Given the description of an element on the screen output the (x, y) to click on. 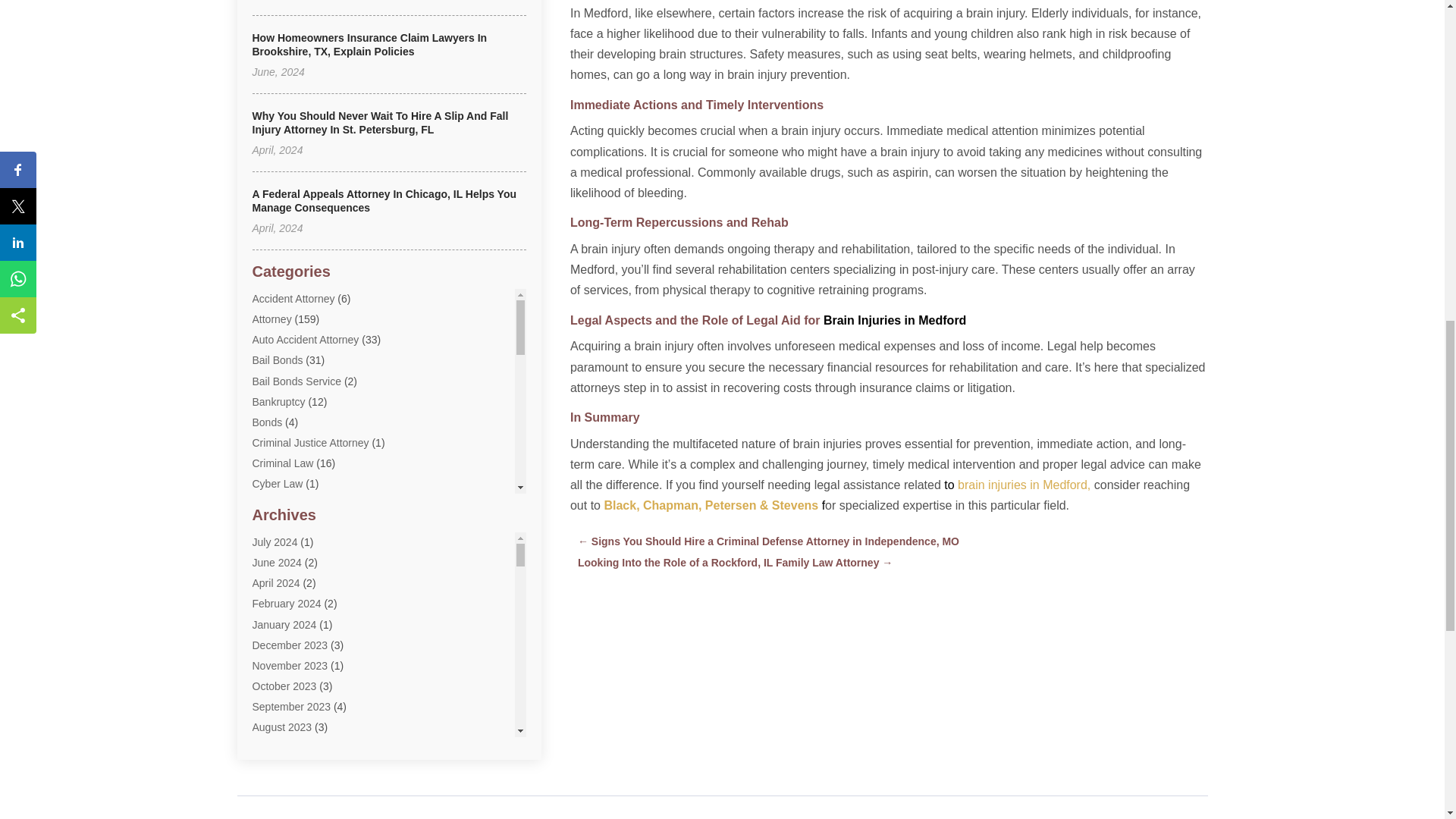
Criminal Law (282, 463)
Dui Law Attorneys (294, 545)
Cyber Law (276, 483)
Bail Bonds Service (295, 381)
Employment Law (292, 586)
Bonds (266, 422)
Attorney (271, 318)
Divorce Lawyer (287, 504)
Divorce Service (288, 525)
General (270, 628)
Bankruptcy (277, 401)
Bail Bonds (276, 359)
DWI Lawyers (282, 566)
